Given the description of an element on the screen output the (x, y) to click on. 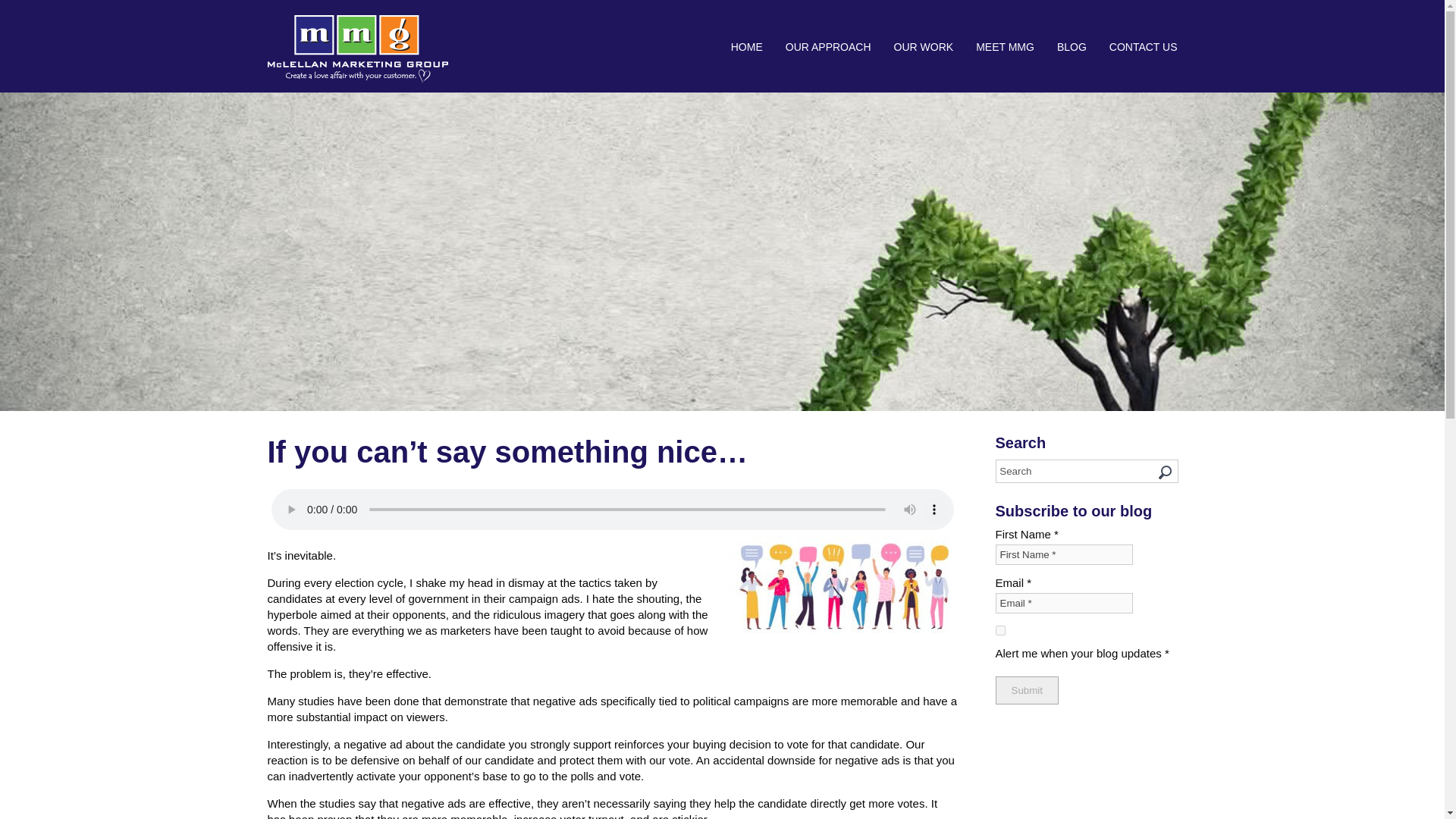
Search (1085, 471)
Search (1085, 471)
CONTACT US (1137, 46)
BLOG (1071, 46)
Submit (1026, 690)
HOME (746, 46)
OUR APPROACH (828, 46)
496 (999, 630)
MEET MMG (1004, 46)
OUR WORK (923, 46)
